Given the description of an element on the screen output the (x, y) to click on. 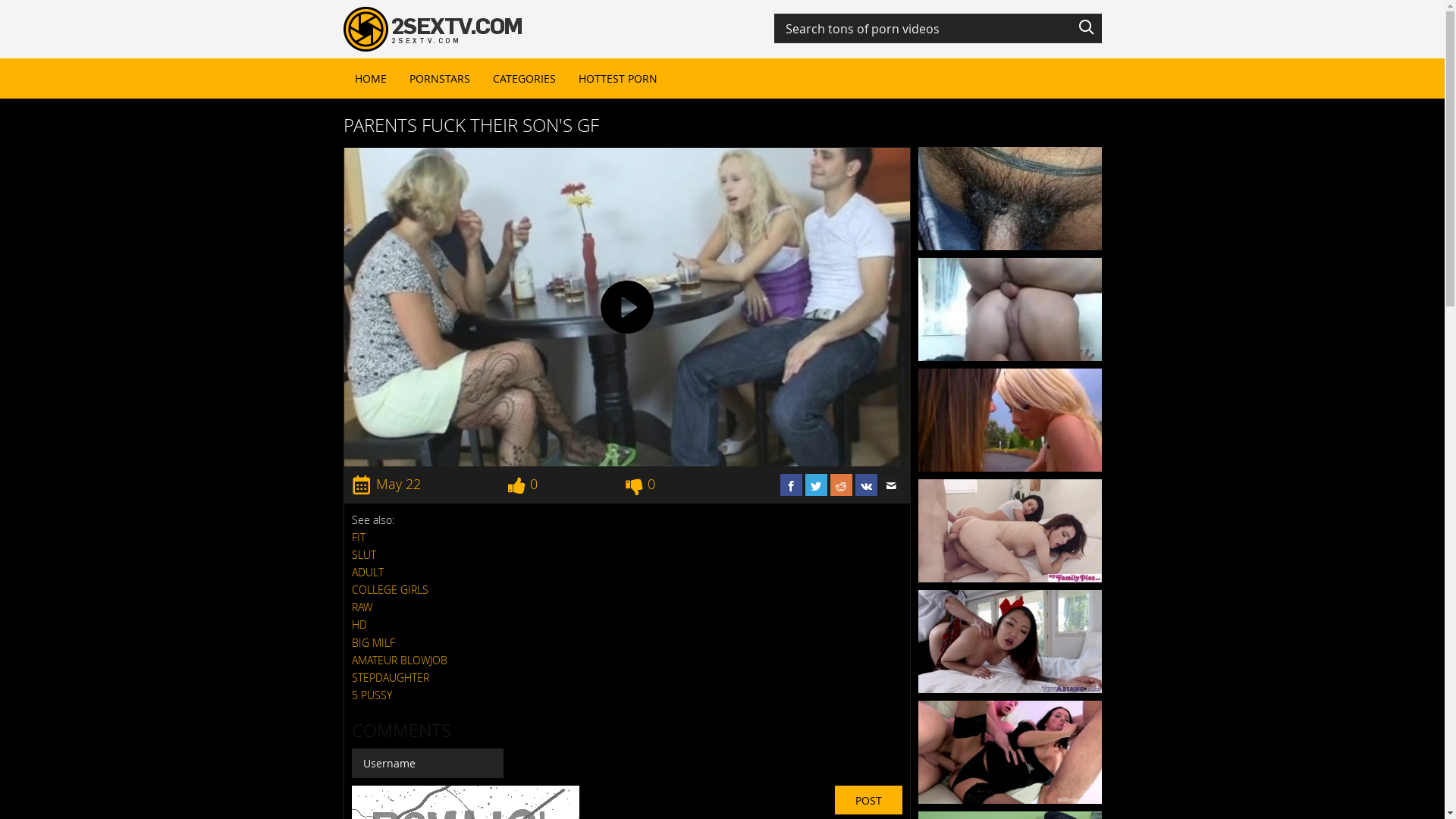
SLUT Element type: text (363, 554)
2SEXTV.COM
2SEXTV.COM Element type: text (431, 27)
BIG MILF Element type: text (373, 642)
POST Element type: text (867, 799)
ADULT Element type: text (367, 571)
STEPDAUGHTER Element type: text (390, 677)
HD Element type: text (359, 624)
5 PUSSY Element type: text (371, 694)
PORNSTARS Element type: text (438, 78)
AMATEUR BLOWJOB Element type: text (399, 659)
HOTTEST PORN Element type: text (617, 78)
COLLEGE GIRLS Element type: text (389, 589)
HOME Element type: text (369, 78)
RAW Element type: text (361, 606)
FIT Element type: text (358, 537)
